Given the description of an element on the screen output the (x, y) to click on. 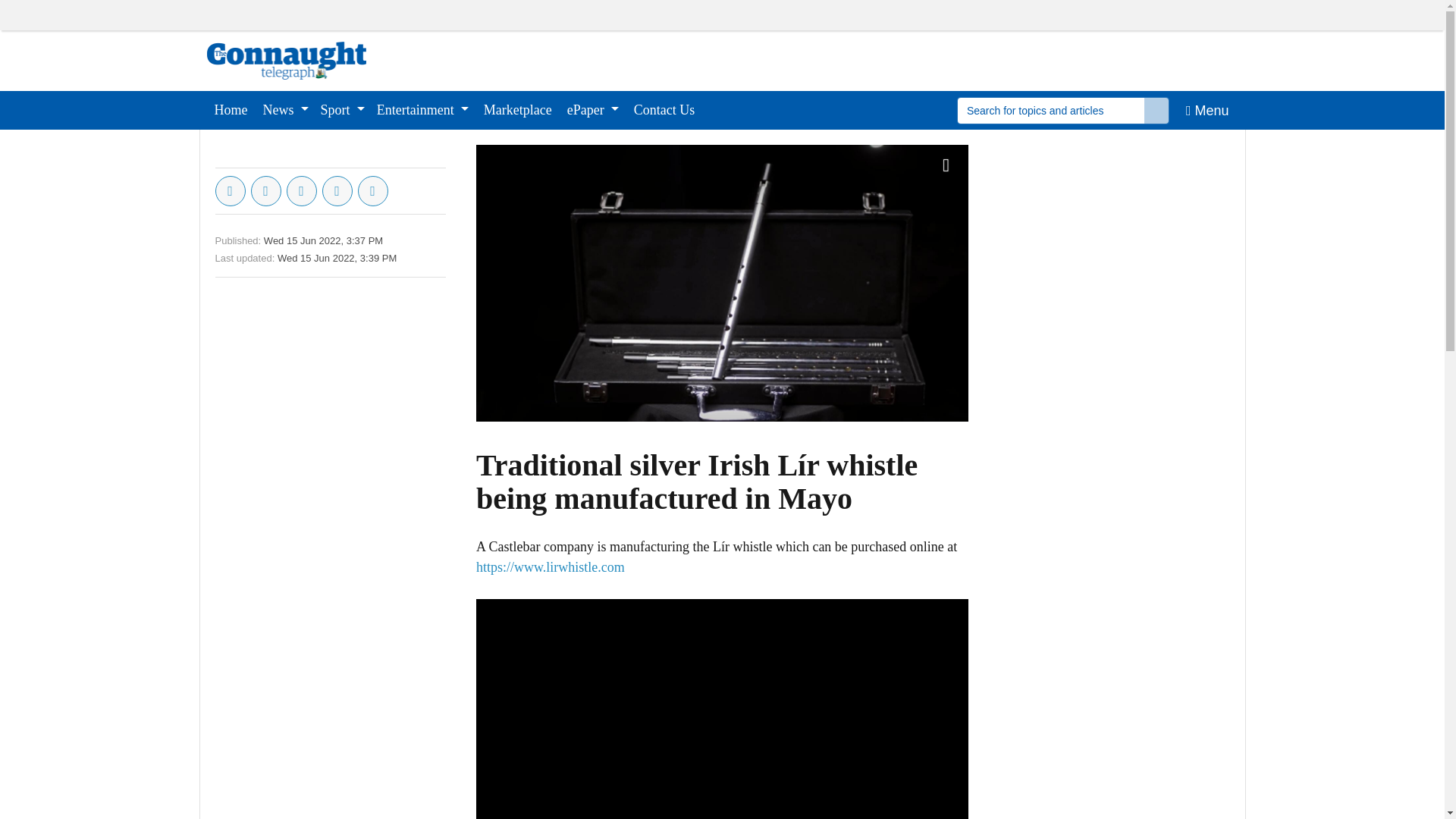
News (285, 109)
Entertainment (422, 109)
Sport (342, 109)
ePaper (592, 109)
Menu (1207, 109)
